Given the description of an element on the screen output the (x, y) to click on. 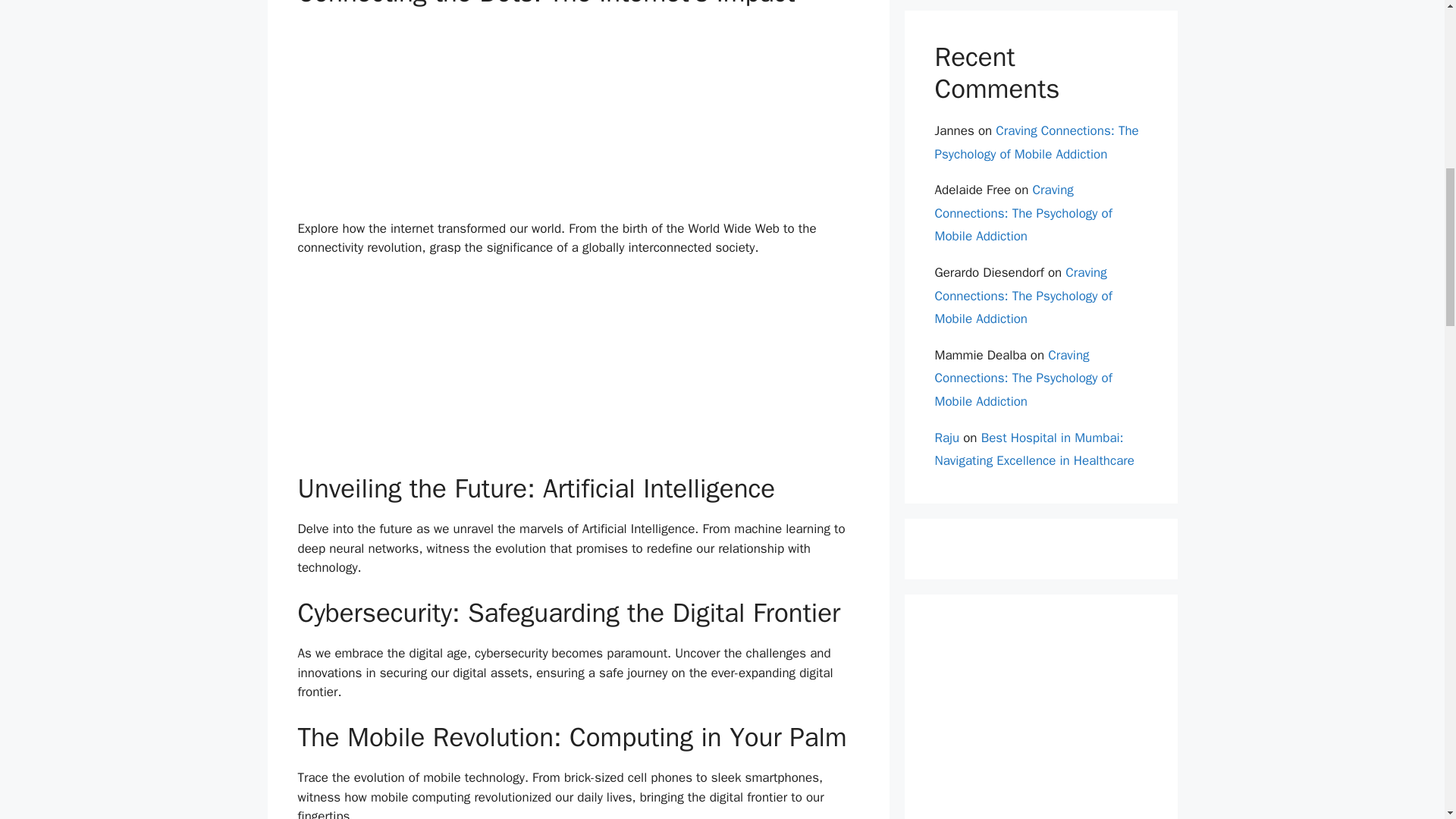
Craving Connections: The Psychology of Mobile Addiction (1023, 295)
Best Hospital in Mumbai: Navigating Excellence in Healthcare (1034, 449)
Craving Connections: The Psychology of Mobile Addiction (1023, 378)
Raju (946, 437)
Craving Connections: The Psychology of Mobile Addiction (1036, 142)
Craving Connections: The Psychology of Mobile Addiction (1023, 212)
